Given the description of an element on the screen output the (x, y) to click on. 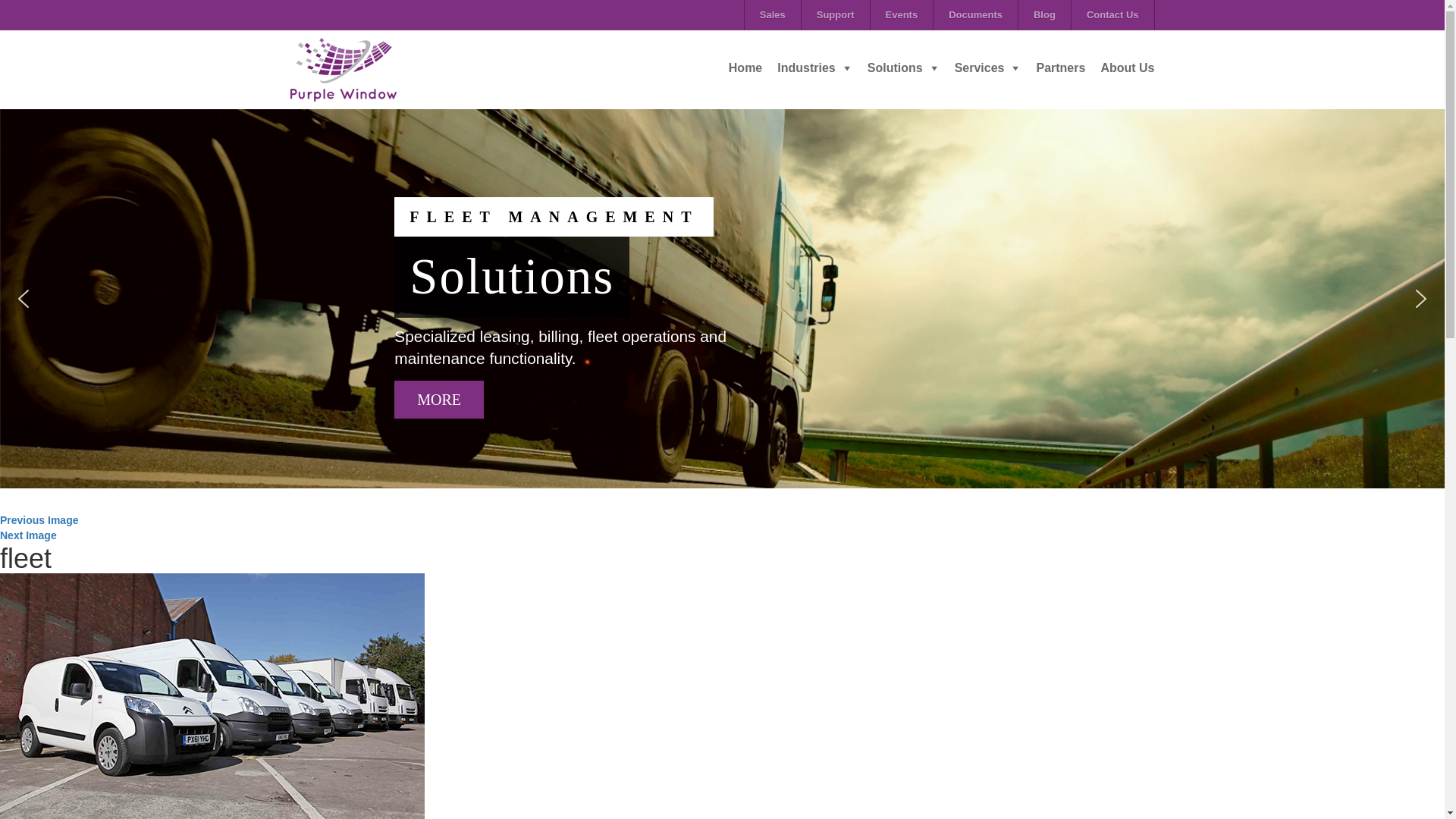
Contact Us (1112, 15)
Solutions (903, 72)
Documents (975, 15)
Home (745, 72)
Support (835, 15)
Events (901, 15)
Industries (814, 72)
Sales (772, 15)
Services (988, 72)
Blog (1043, 15)
